Given the description of an element on the screen output the (x, y) to click on. 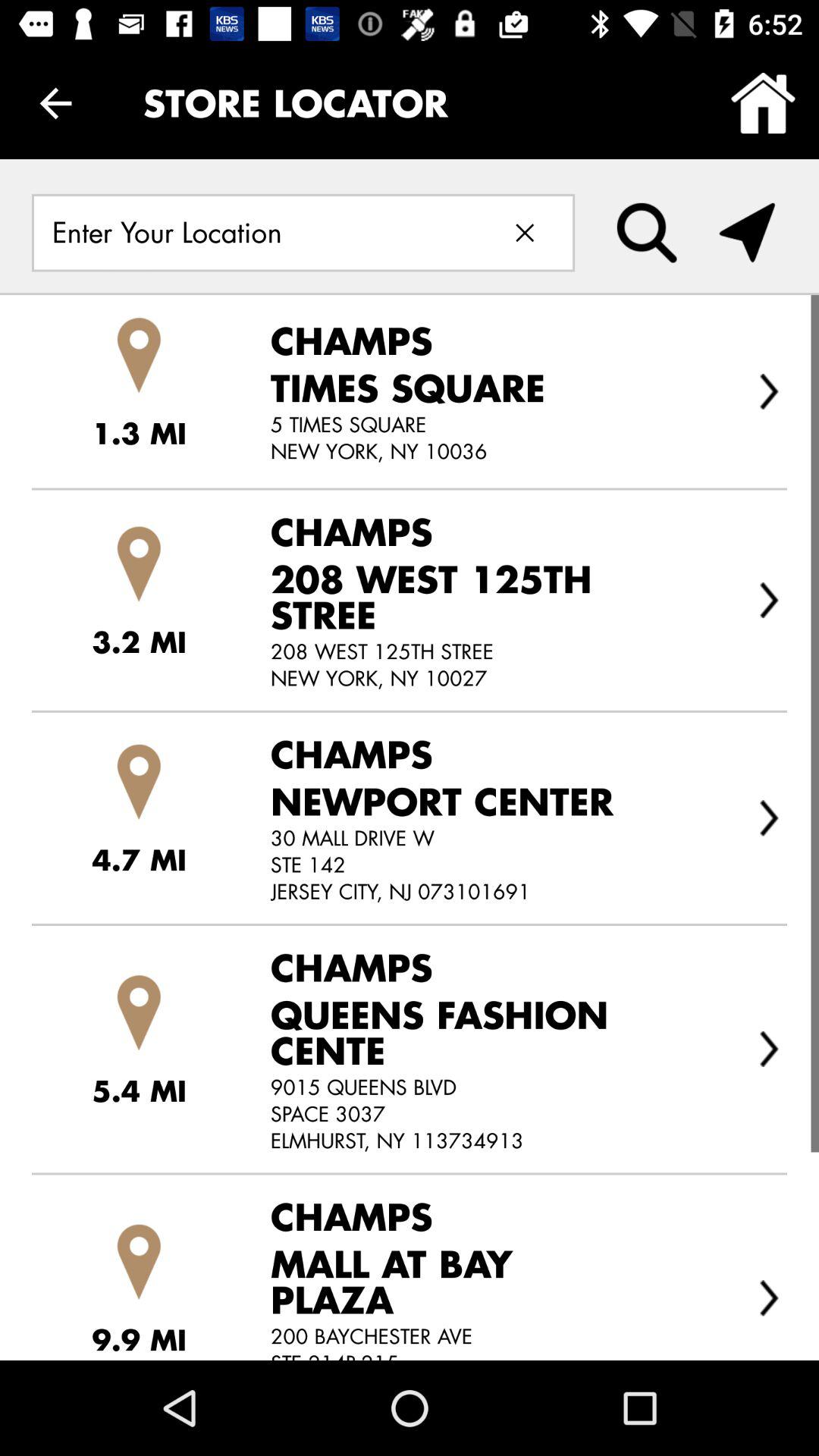
clears your location search (524, 232)
